Given the description of an element on the screen output the (x, y) to click on. 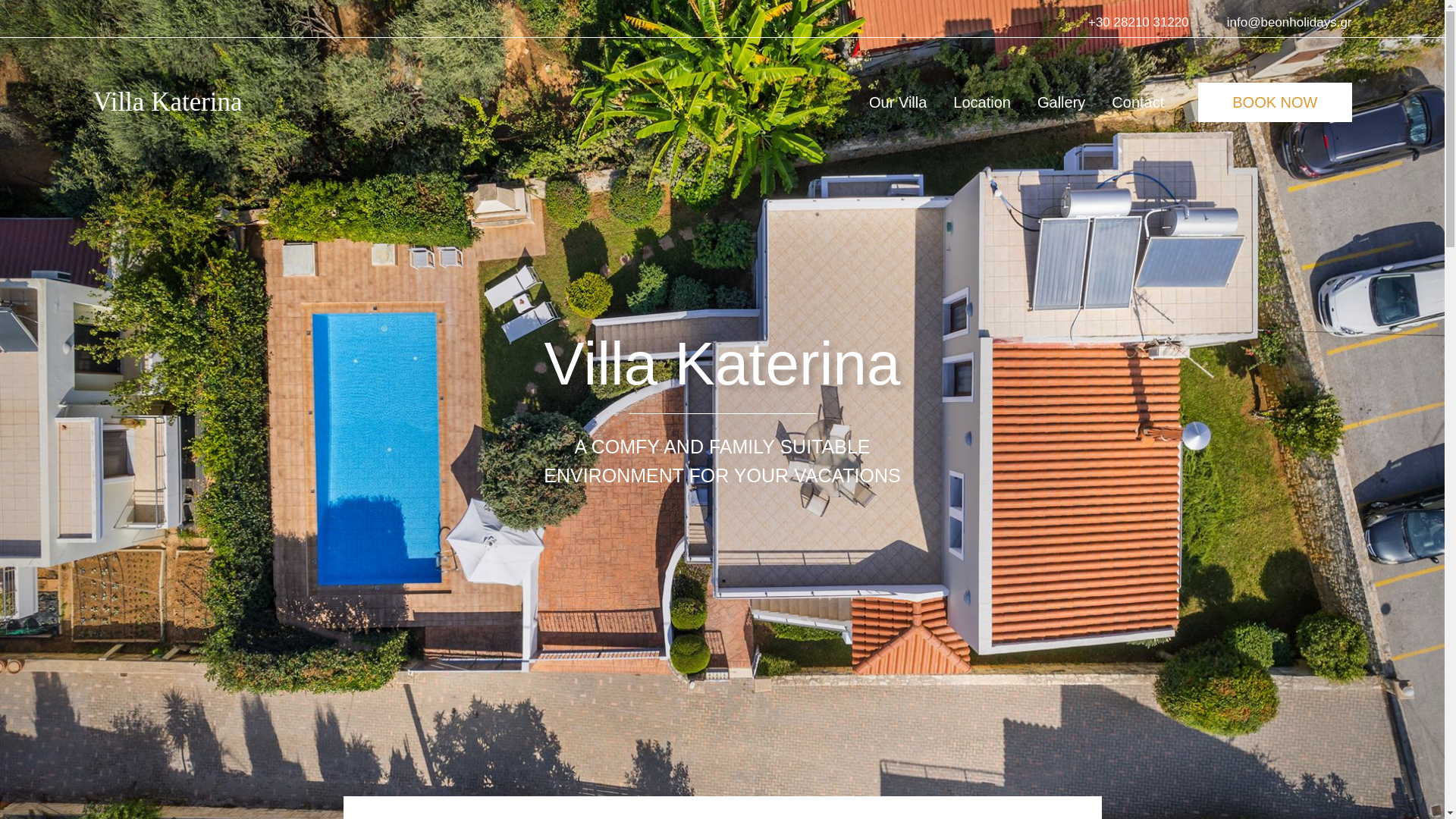
BOOK NOW (1274, 102)
Location (981, 106)
Villa Katerina (167, 103)
Contact (1137, 106)
Gallery (1060, 106)
Our Villa (897, 106)
